Given the description of an element on the screen output the (x, y) to click on. 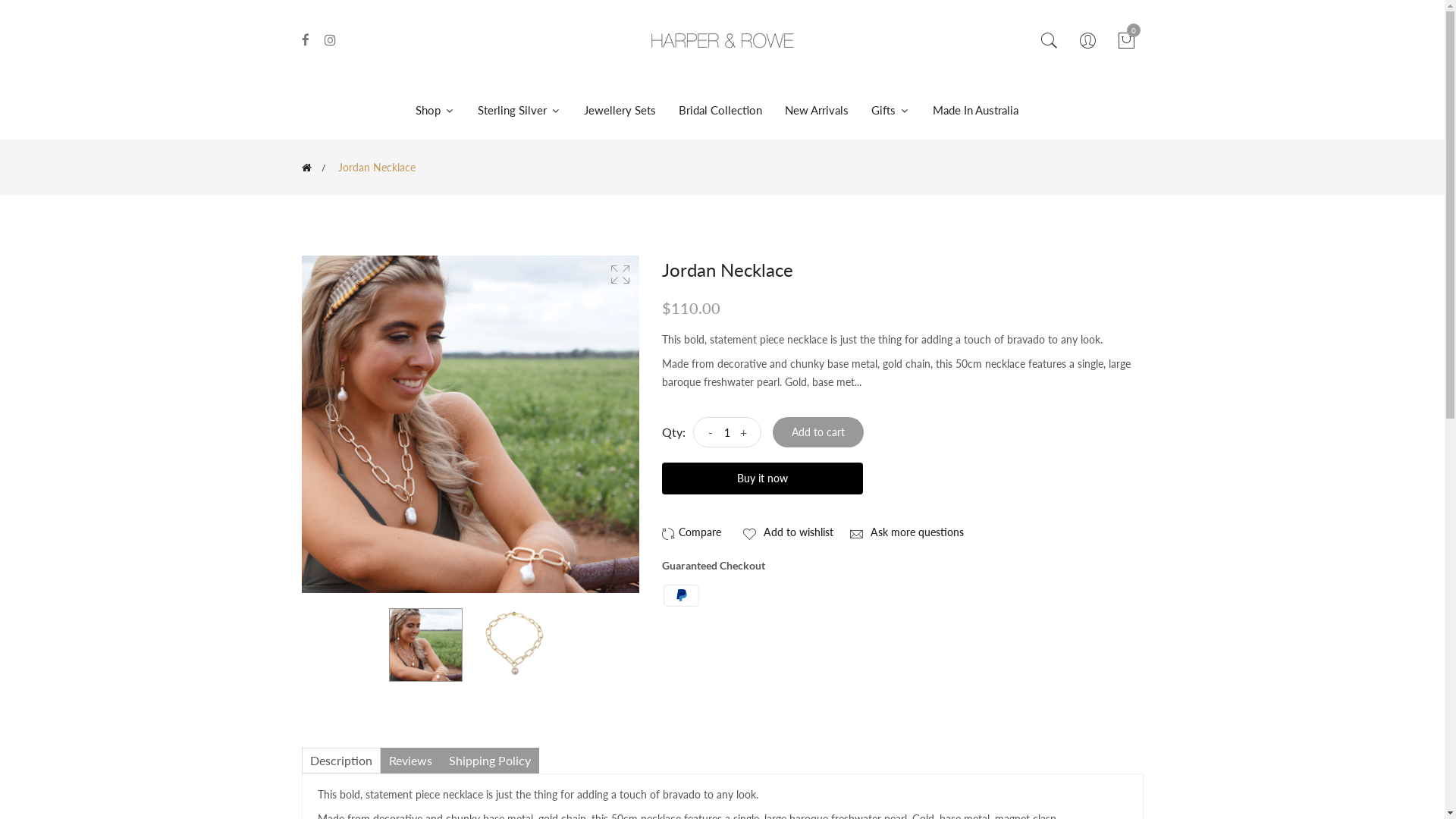
Made In Australia Element type: text (974, 110)
Back to the home page Element type: hover (306, 167)
Jewellery Sets Element type: text (618, 110)
Add to cart Element type: text (816, 432)
Sterling Silver Element type: text (518, 110)
0 Element type: text (1125, 40)
Shop Element type: text (440, 110)
Gifts Element type: text (890, 110)
Shipping Policy Element type: text (488, 760)
Reviews Element type: text (410, 760)
Add to wishlist Element type: text (787, 532)
New Arrivals Element type: text (816, 110)
Ask more questions Element type: text (905, 532)
Description Element type: text (340, 760)
Bridal Collection Element type: text (720, 110)
Buy it now Element type: text (761, 478)
